Given the description of an element on the screen output the (x, y) to click on. 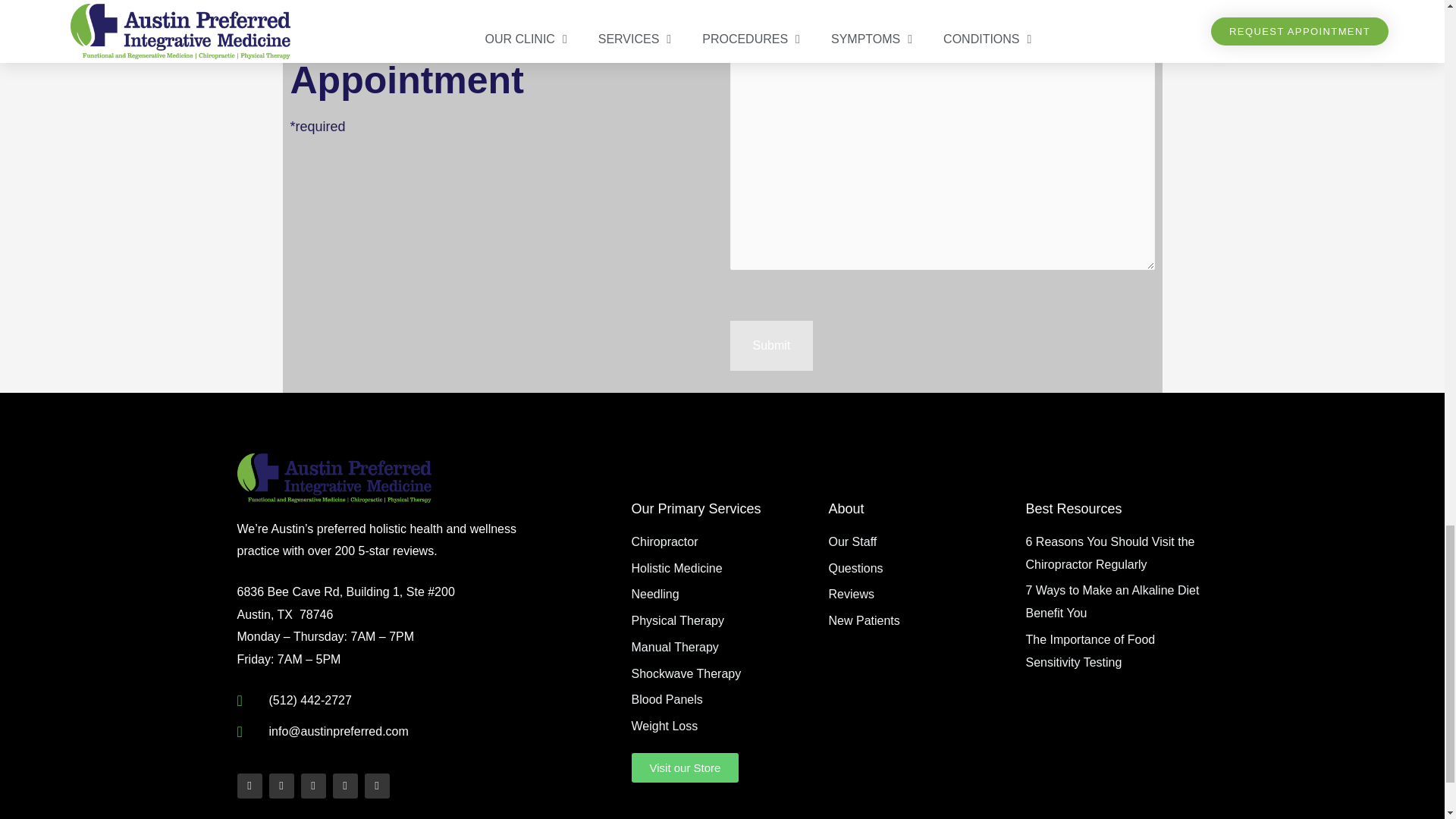
Submit (770, 346)
